Given the description of an element on the screen output the (x, y) to click on. 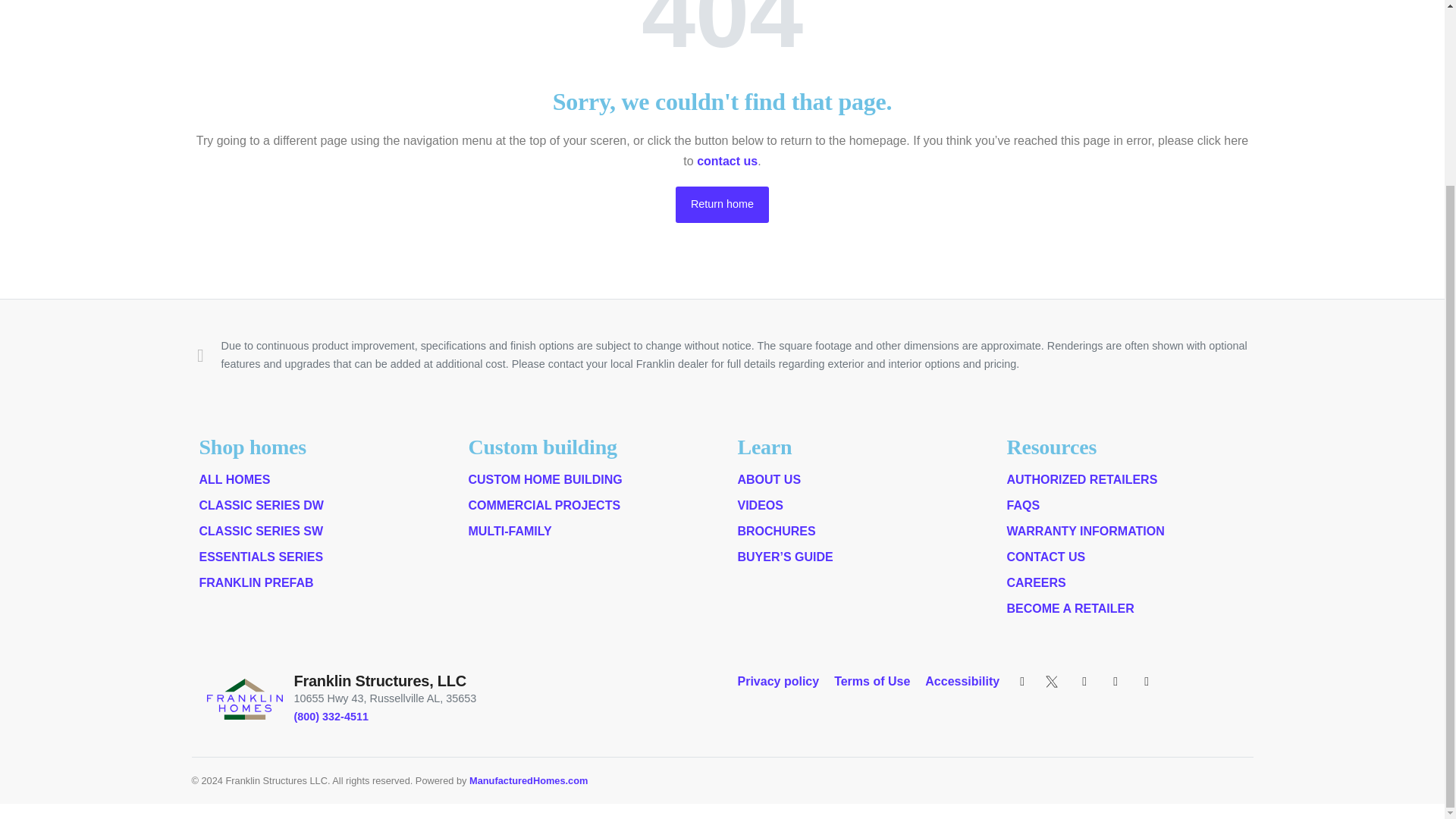
X (1054, 681)
Pinterest (1147, 681)
Instagram (1086, 681)
YouTube (1117, 681)
Facebook (1023, 681)
